Given the description of an element on the screen output the (x, y) to click on. 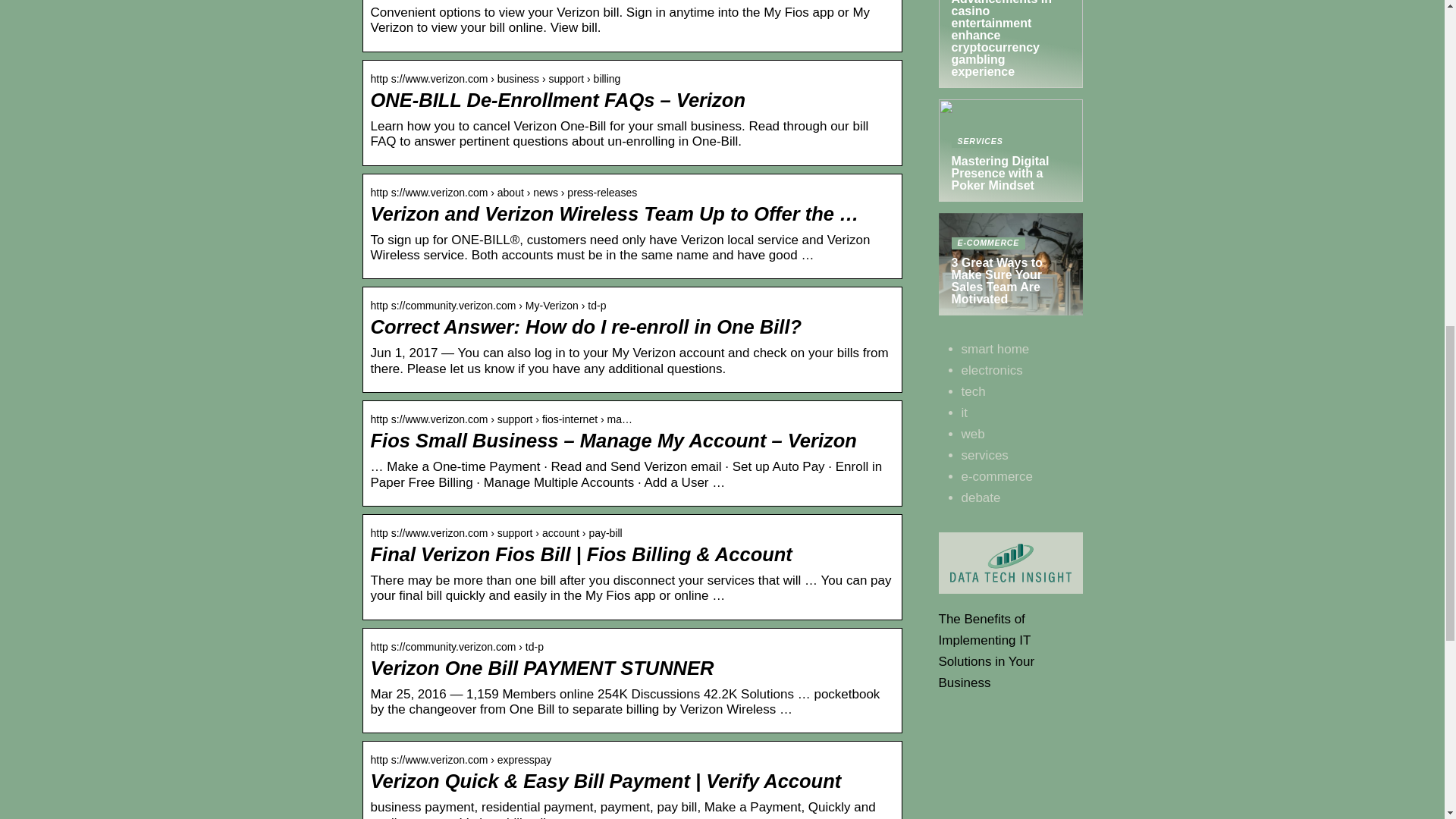
tech (972, 391)
smart home (994, 349)
web (972, 433)
services (984, 454)
e-commerce (1011, 150)
debate (996, 476)
electronics (980, 497)
